Given the description of an element on the screen output the (x, y) to click on. 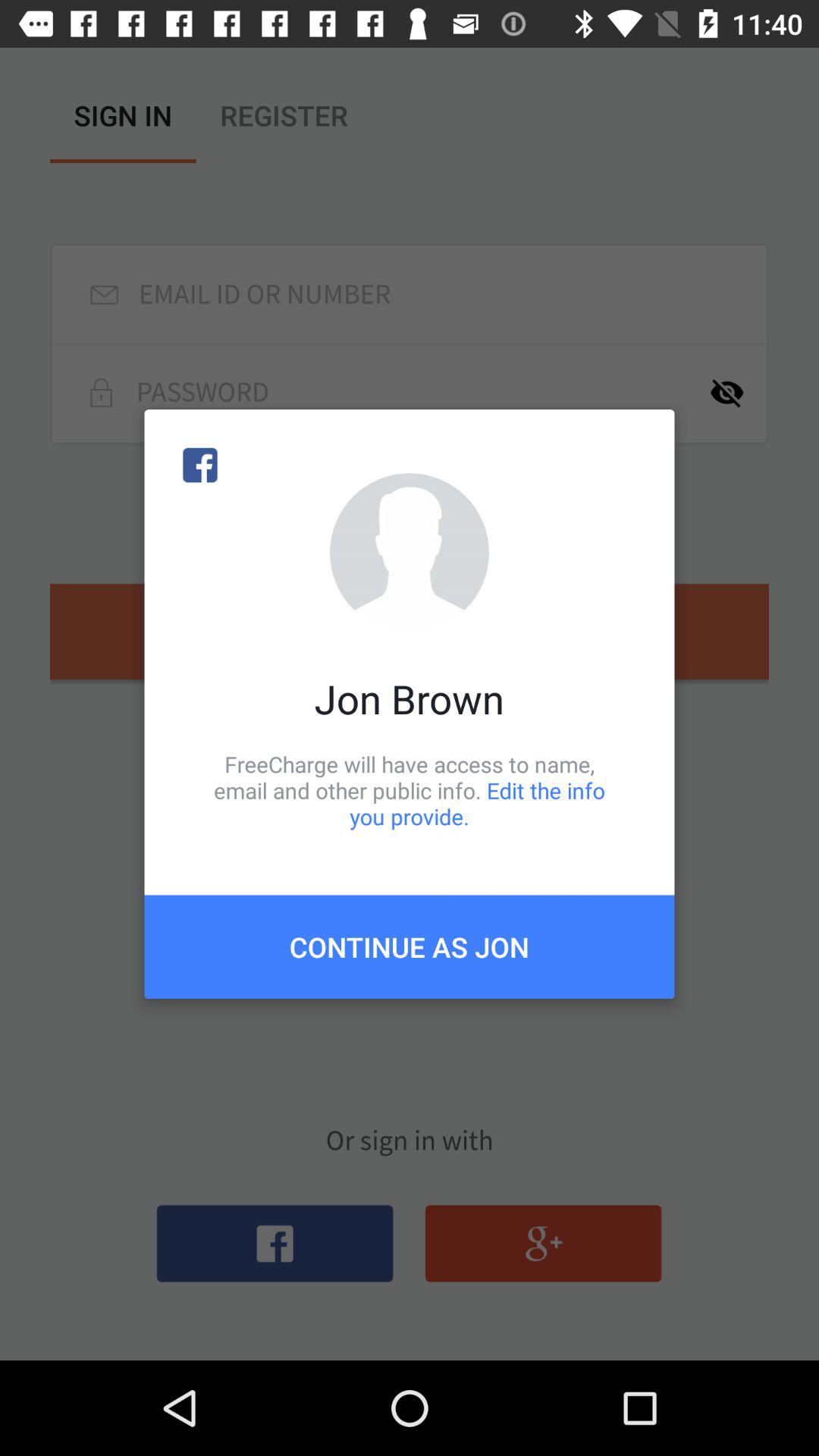
press the icon below freecharge will have item (409, 946)
